Given the description of an element on the screen output the (x, y) to click on. 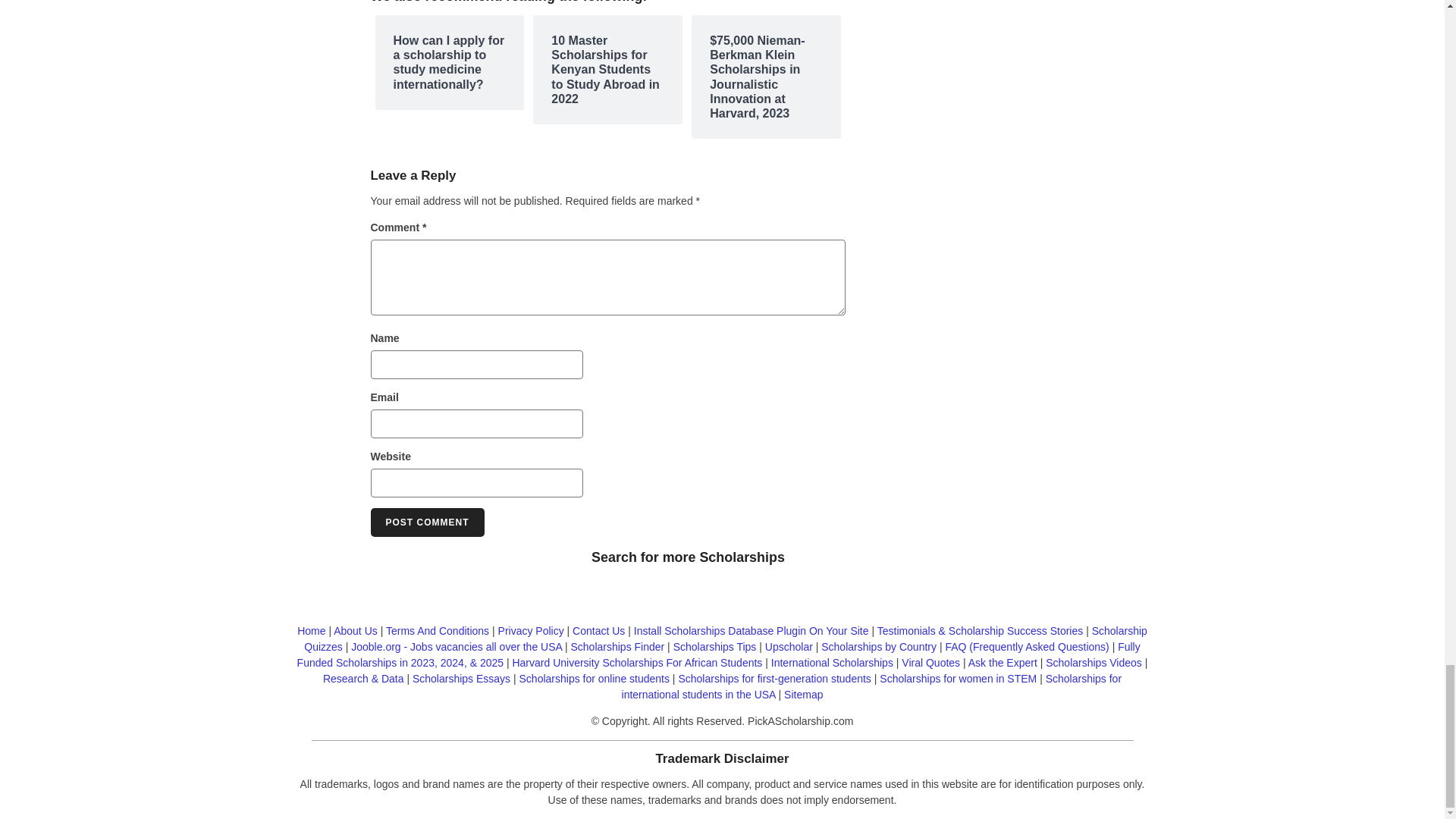
Post Comment (426, 522)
